Given the description of an element on the screen output the (x, y) to click on. 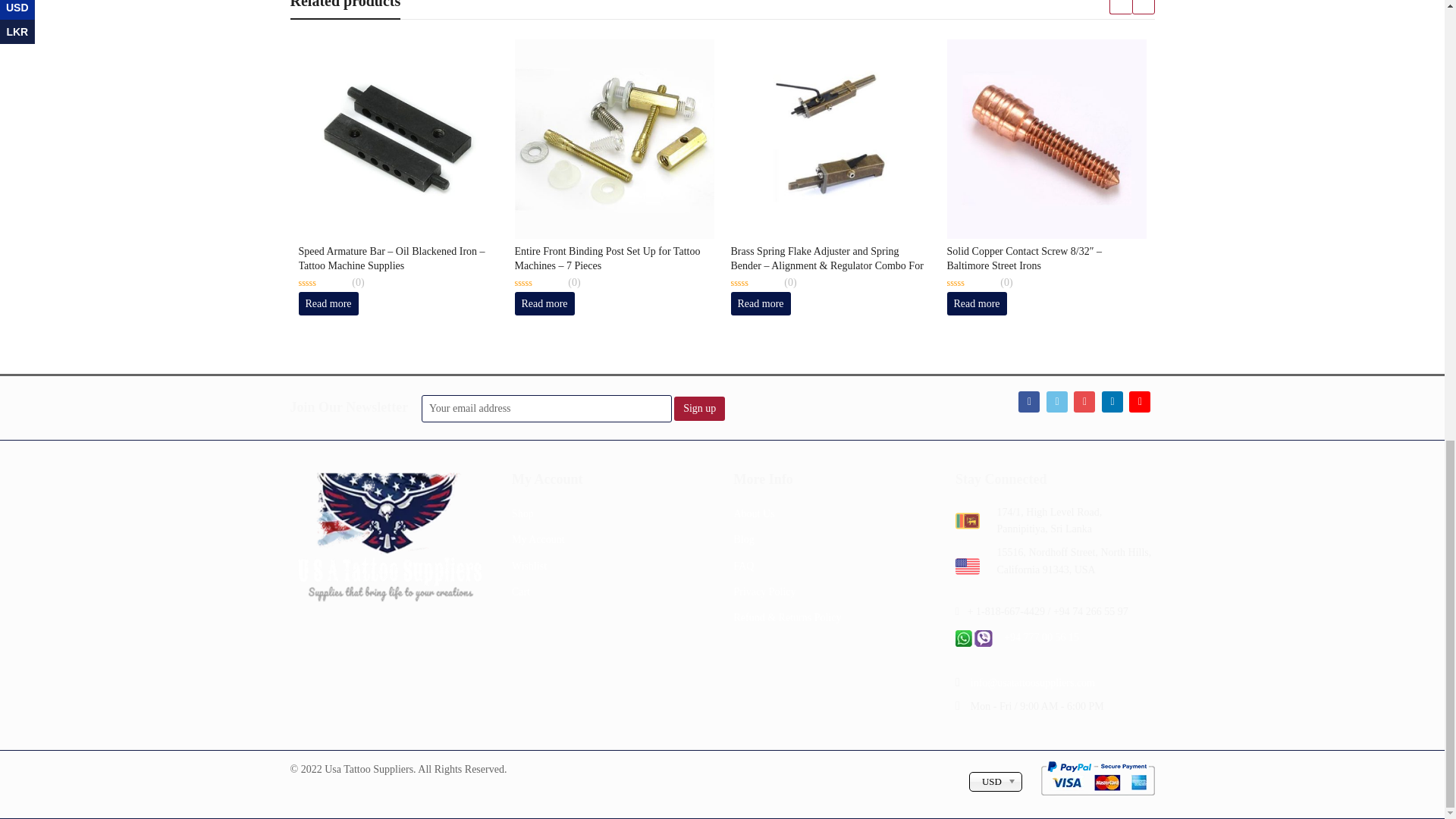
0 (322, 282)
Sign up (699, 408)
0 (755, 282)
0 (970, 282)
0 (538, 282)
